Given the description of an element on the screen output the (x, y) to click on. 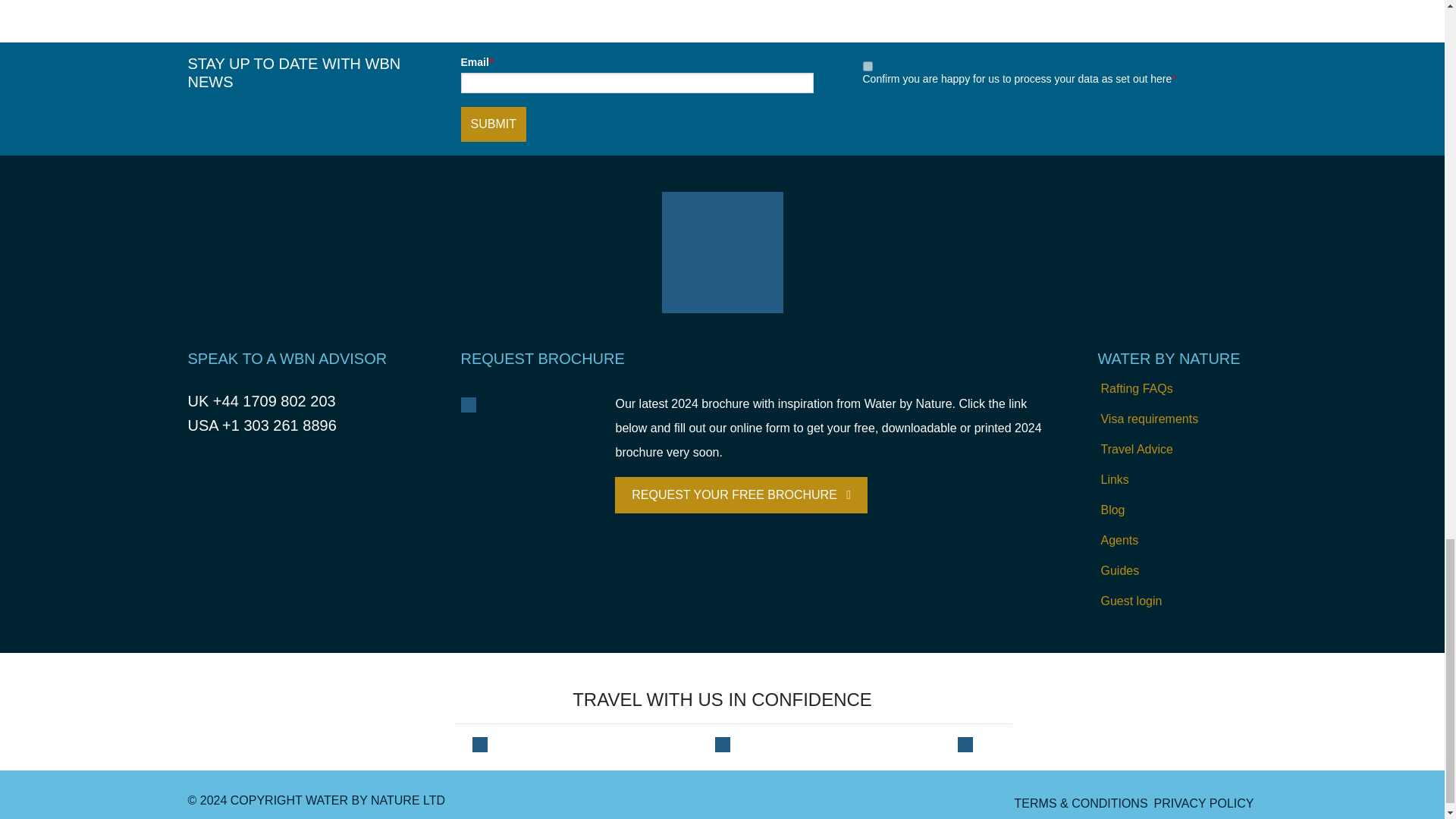
Guest login (1176, 601)
Visa requirements (1176, 419)
Agents (1176, 540)
Rafting FAQs (1176, 388)
true (867, 66)
Guides (1176, 571)
Blog (1176, 510)
Travel Advice (1176, 449)
Privacy policy (1204, 803)
Submit (493, 124)
